Given the description of an element on the screen output the (x, y) to click on. 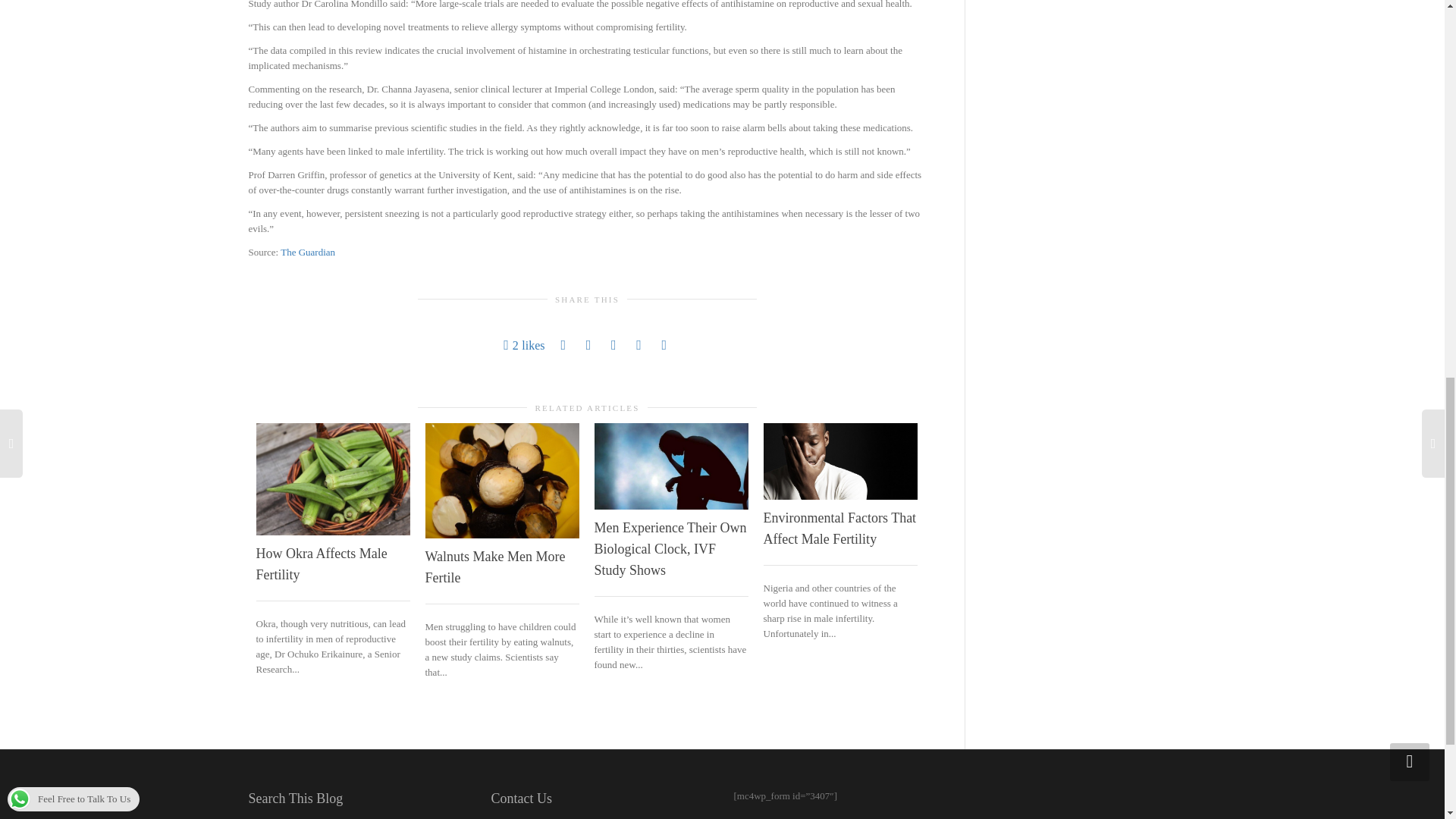
How Okra Affects Male Fertility (321, 564)
2 likes (523, 344)
The Guardian (307, 251)
Walnuts Make Men More Fertile (494, 566)
Men Experience Their Own Biological Clock, IVF Study Shows (670, 549)
